Given the description of an element on the screen output the (x, y) to click on. 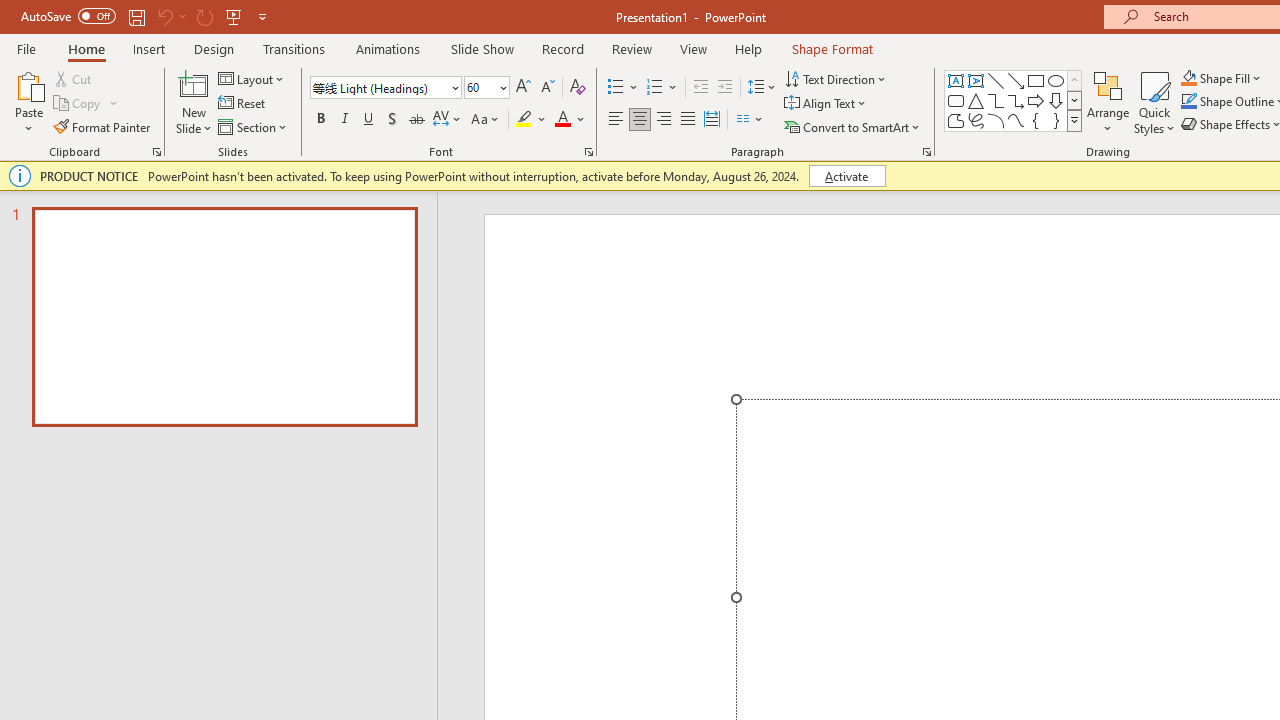
Row Down (1074, 100)
AutoSave (68, 16)
Copy (85, 103)
From Beginning (234, 15)
Shadow (392, 119)
Font (385, 87)
Freeform: Scribble (975, 120)
Shape Format (832, 48)
Increase Indent (725, 87)
Redo (204, 15)
Shape Fill Orange, Accent 2 (1188, 78)
